Given the description of an element on the screen output the (x, y) to click on. 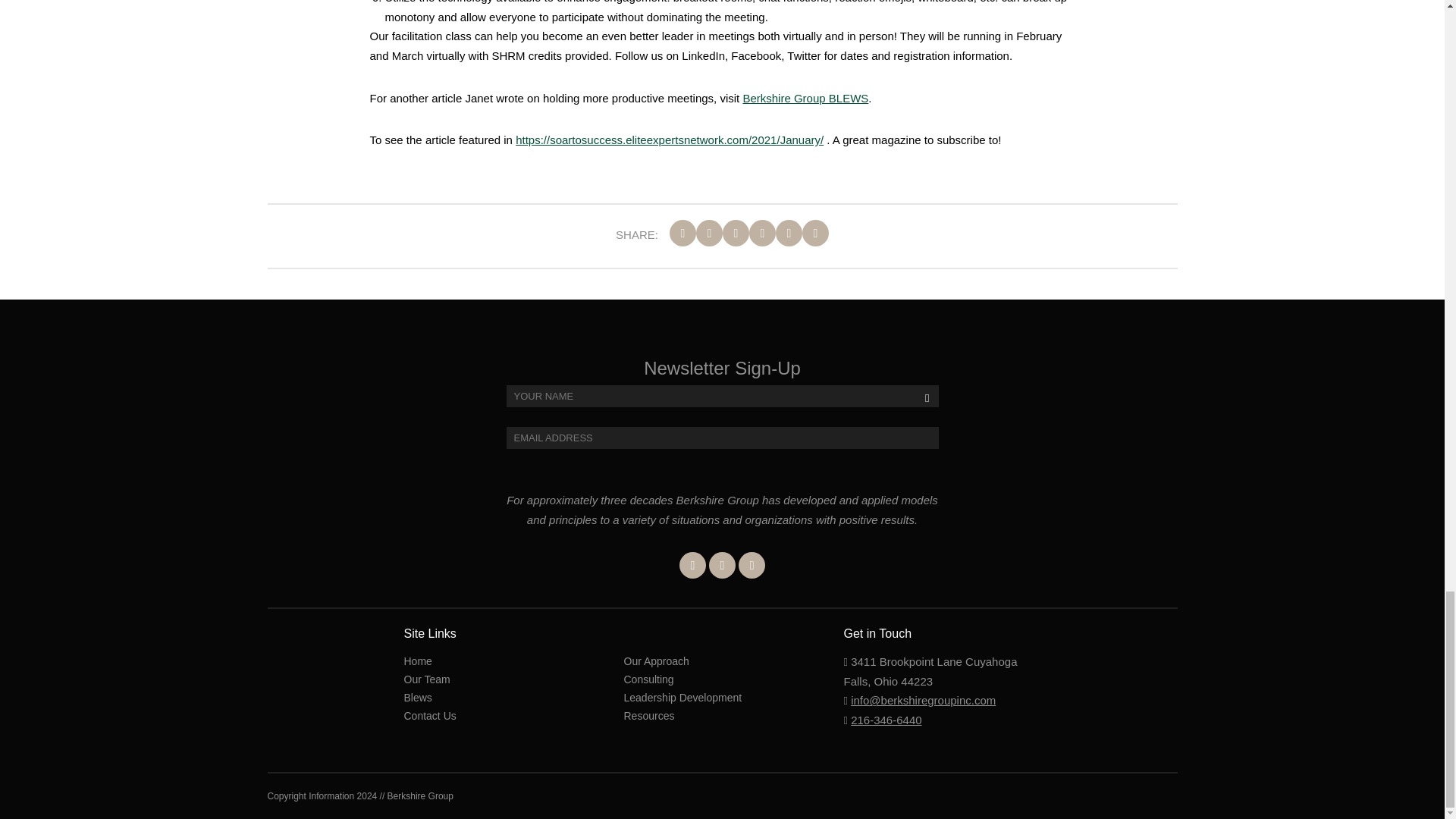
Twitter (722, 565)
Berkshire Group BLEWS (804, 97)
Contact Us (429, 715)
Our Team (426, 679)
Blews (416, 697)
Facebook (692, 565)
LinkedIn (751, 565)
Home (416, 661)
